Given the description of an element on the screen output the (x, y) to click on. 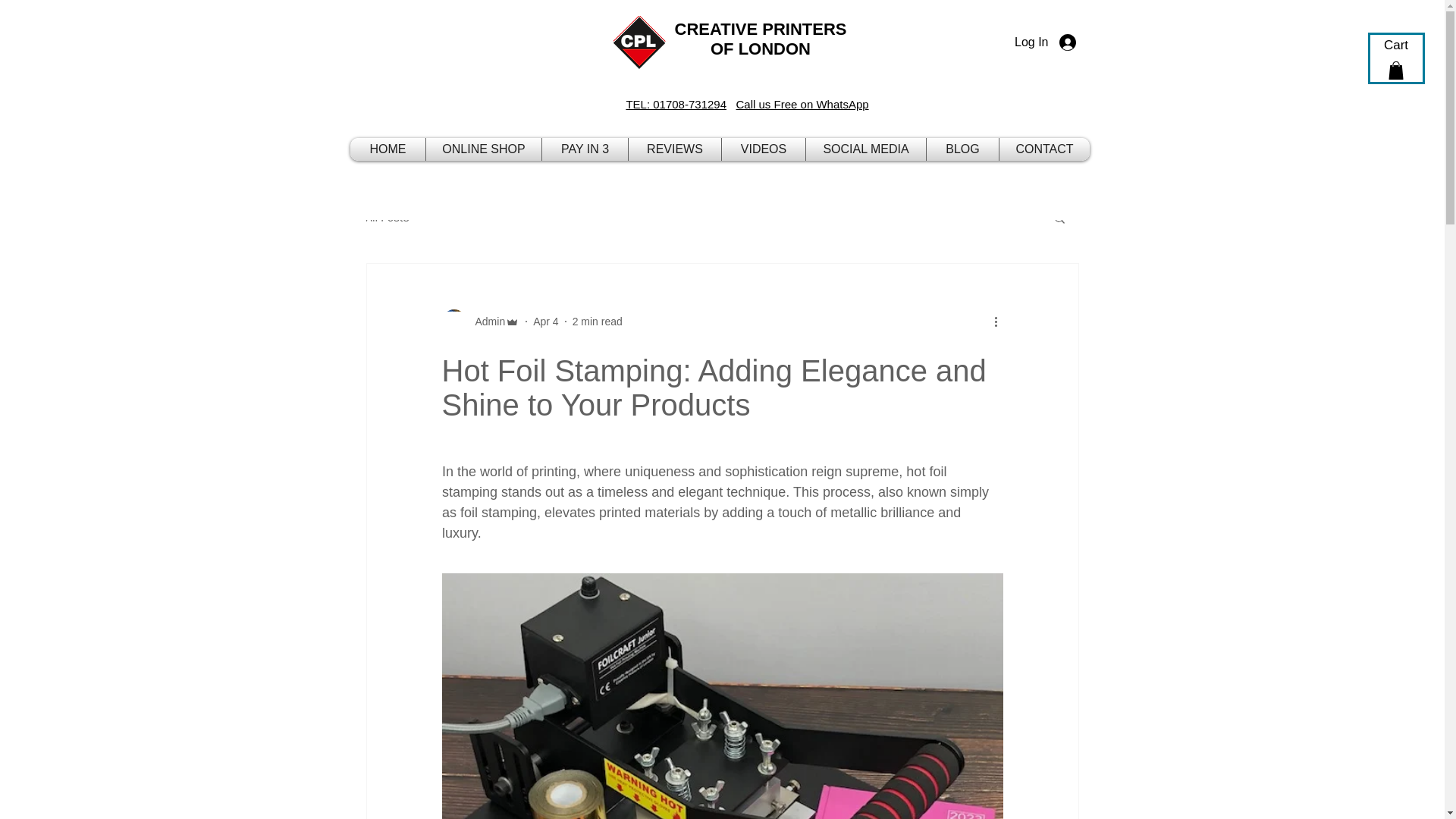
Apr 4 (544, 321)
SOCIAL MEDIA (865, 149)
HOME (387, 149)
CONTACT (1044, 149)
Admin (485, 321)
REVIEWS (674, 149)
All Posts (387, 217)
PAY IN 3 (585, 149)
2 min read (597, 321)
Call us Free on WhatsApp (802, 103)
